Given the description of an element on the screen output the (x, y) to click on. 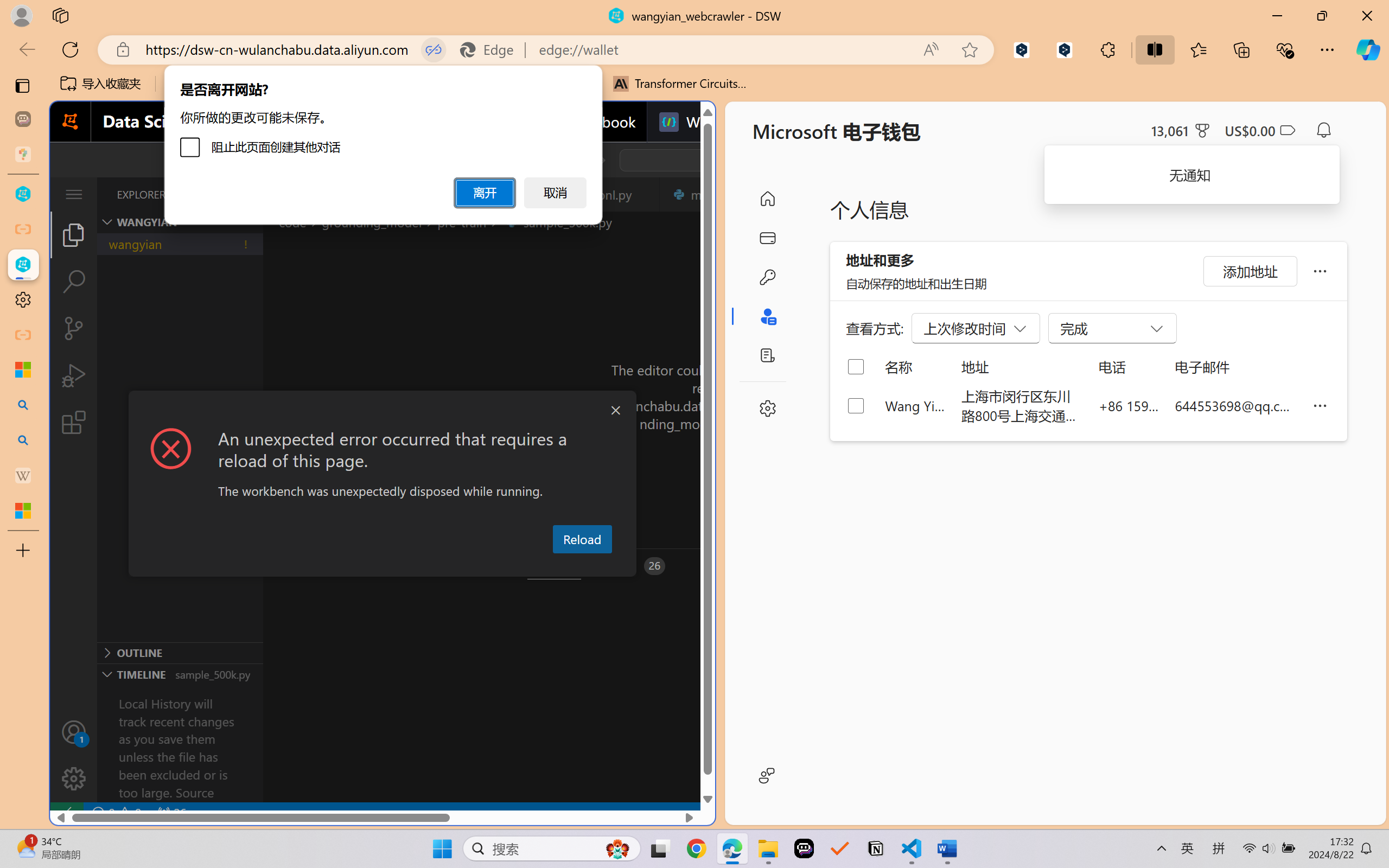
644553698@qq.com (1235, 405)
No Problems (115, 812)
Problems (Ctrl+Shift+M) (308, 565)
Output (Ctrl+Shift+U) (377, 565)
Accounts - Sign in requested (73, 732)
Ports - 26 forwarded ports (632, 565)
